Given the description of an element on the screen output the (x, y) to click on. 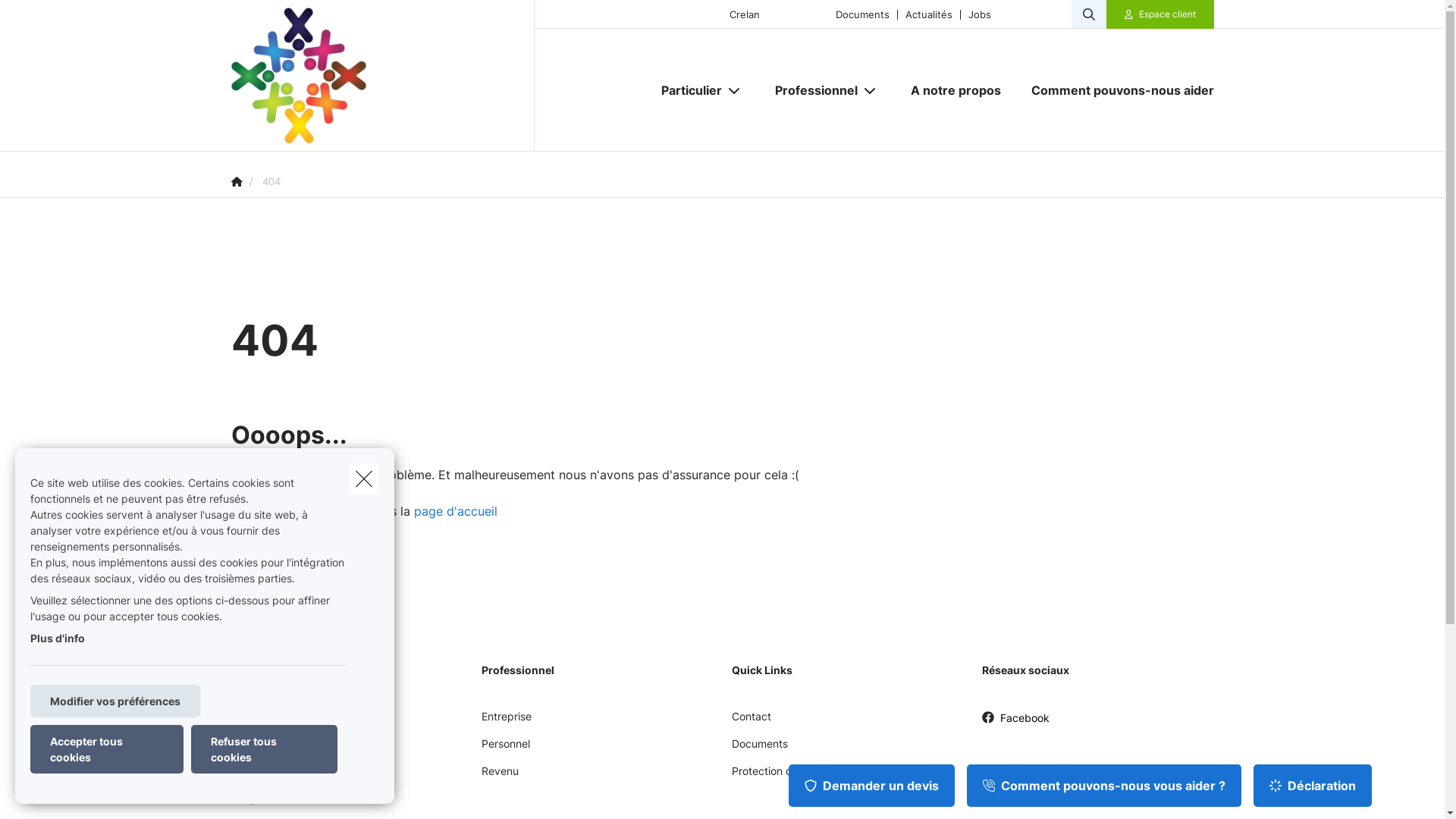
Crelan Element type: text (744, 13)
Accepter tous cookies Element type: text (106, 748)
Personnel Element type: text (504, 748)
Hospitalisation Element type: text (266, 803)
Facebook Element type: text (1014, 722)
Documents Element type: text (759, 748)
Demander un devis Element type: text (871, 785)
Entreprise Element type: text (505, 721)
Plus d'info Element type: text (57, 637)
A notre propos Element type: text (954, 89)
page d'accueil Element type: text (455, 510)
Refuser tous cookies Element type: text (264, 748)
Contact Element type: text (750, 721)
Comment pouvons-nous aider Element type: text (1115, 89)
Revenu Element type: text (498, 776)
Habitation Element type: text (255, 748)
Rechercher Element type: text (54, 18)
Famille et protection juridique Element type: text (303, 776)
Particulier Element type: text (685, 89)
Comment pouvons-nous vous aider ? Element type: text (1103, 785)
Professionnel Element type: text (810, 89)
Jobs Element type: text (979, 13)
Protection du client Element type: text (779, 776)
Documents Element type: text (862, 13)
Espace client Element type: text (1167, 14)
Espace client Element type: text (1160, 14)
